Given the description of an element on the screen output the (x, y) to click on. 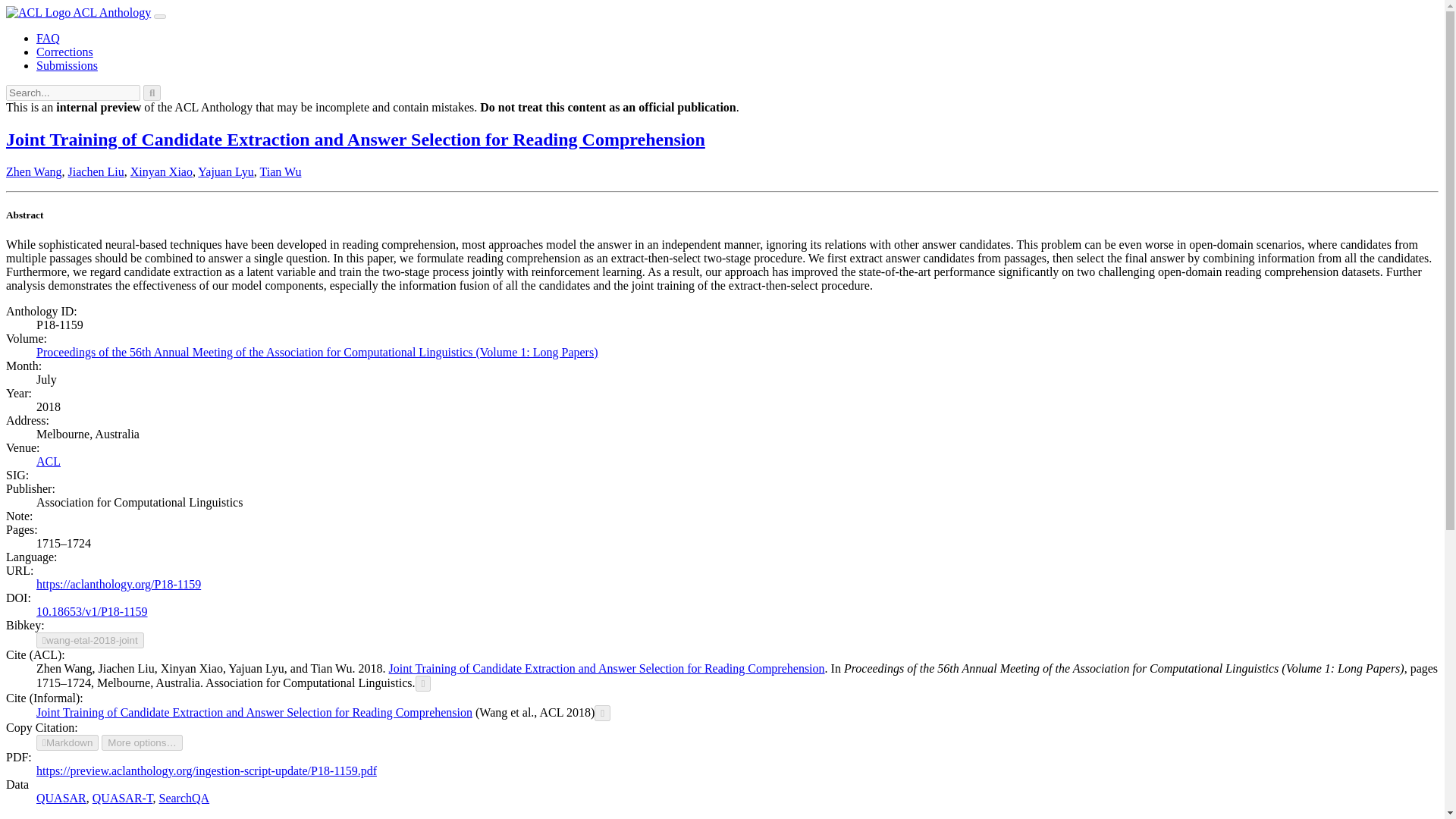
Xinyan Xiao (161, 171)
Tian Wu (280, 171)
QUASAR (60, 797)
ACL Anthology (78, 11)
Search (51, 818)
ACL (48, 461)
Yajuan Lyu (225, 171)
Markdown (67, 742)
QUASAR-T (122, 797)
wang-etal-2018-joint (90, 640)
To the current version of the paper by DOI (92, 611)
SearchQA (183, 797)
